Given the description of an element on the screen output the (x, y) to click on. 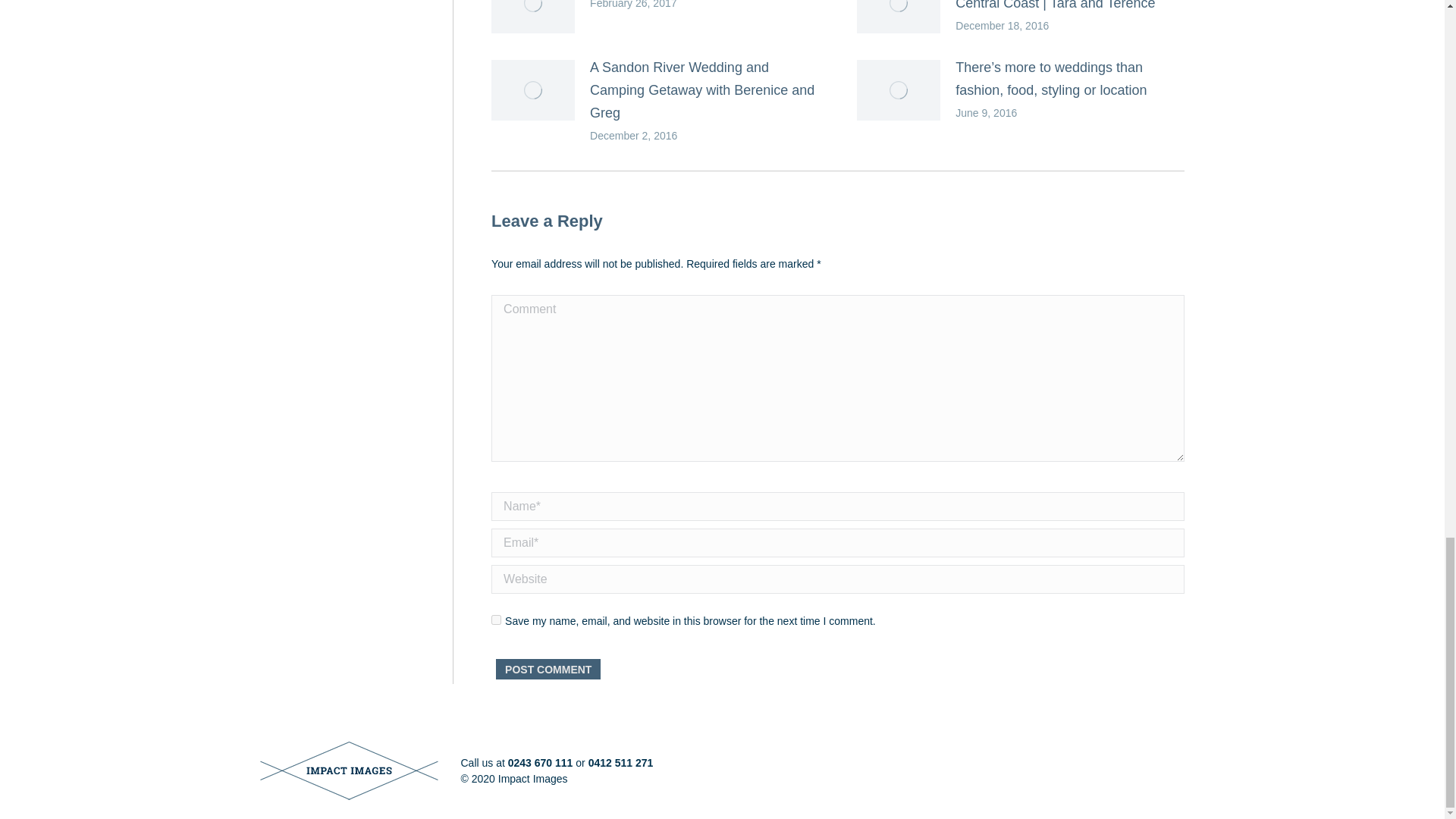
yes (496, 619)
